Given the description of an element on the screen output the (x, y) to click on. 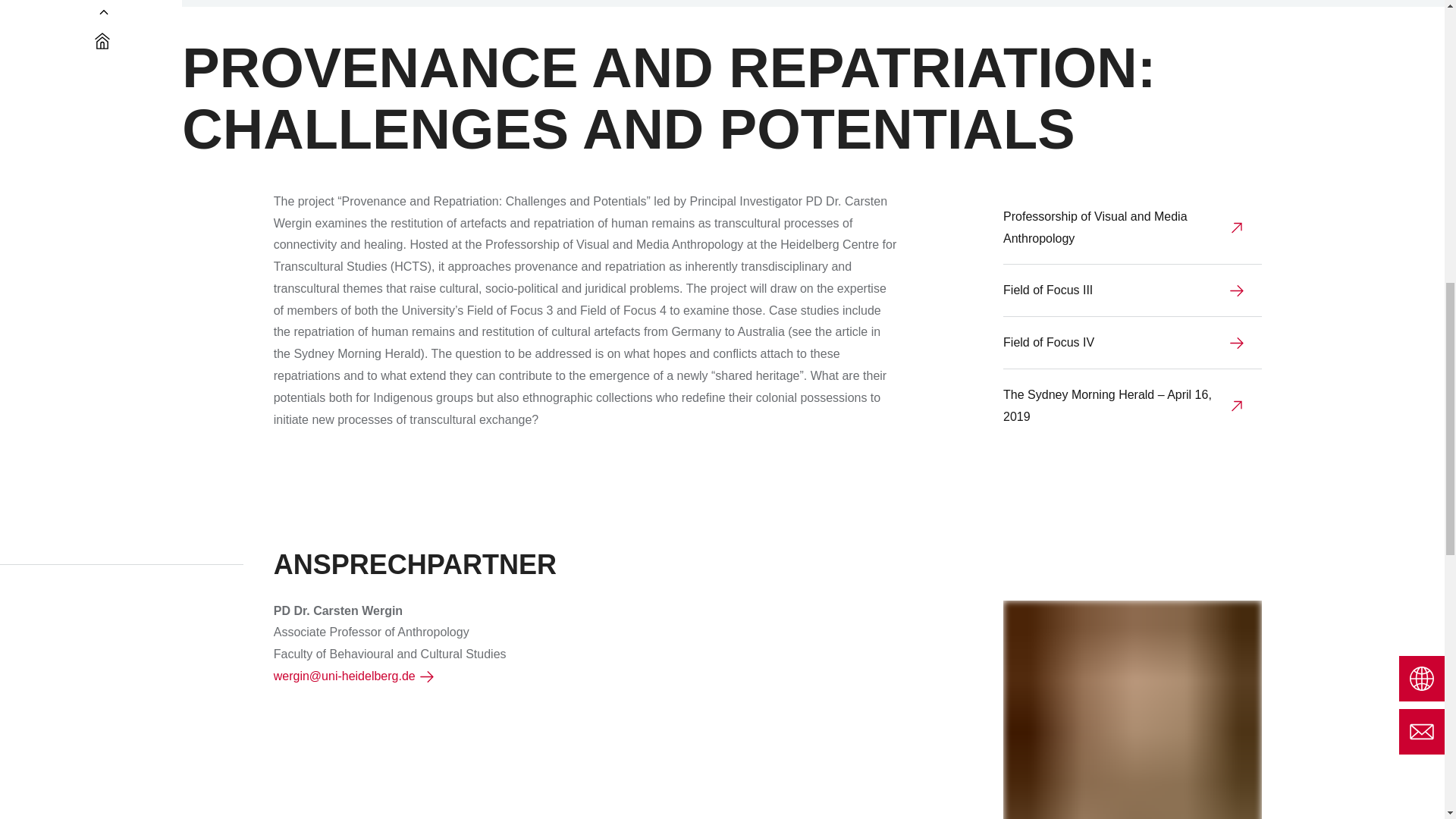
Field of Focus IV (1132, 342)
Field of Focus III (1132, 291)
Professorship of Visual and Media Anthropology (1132, 228)
